Given the description of an element on the screen output the (x, y) to click on. 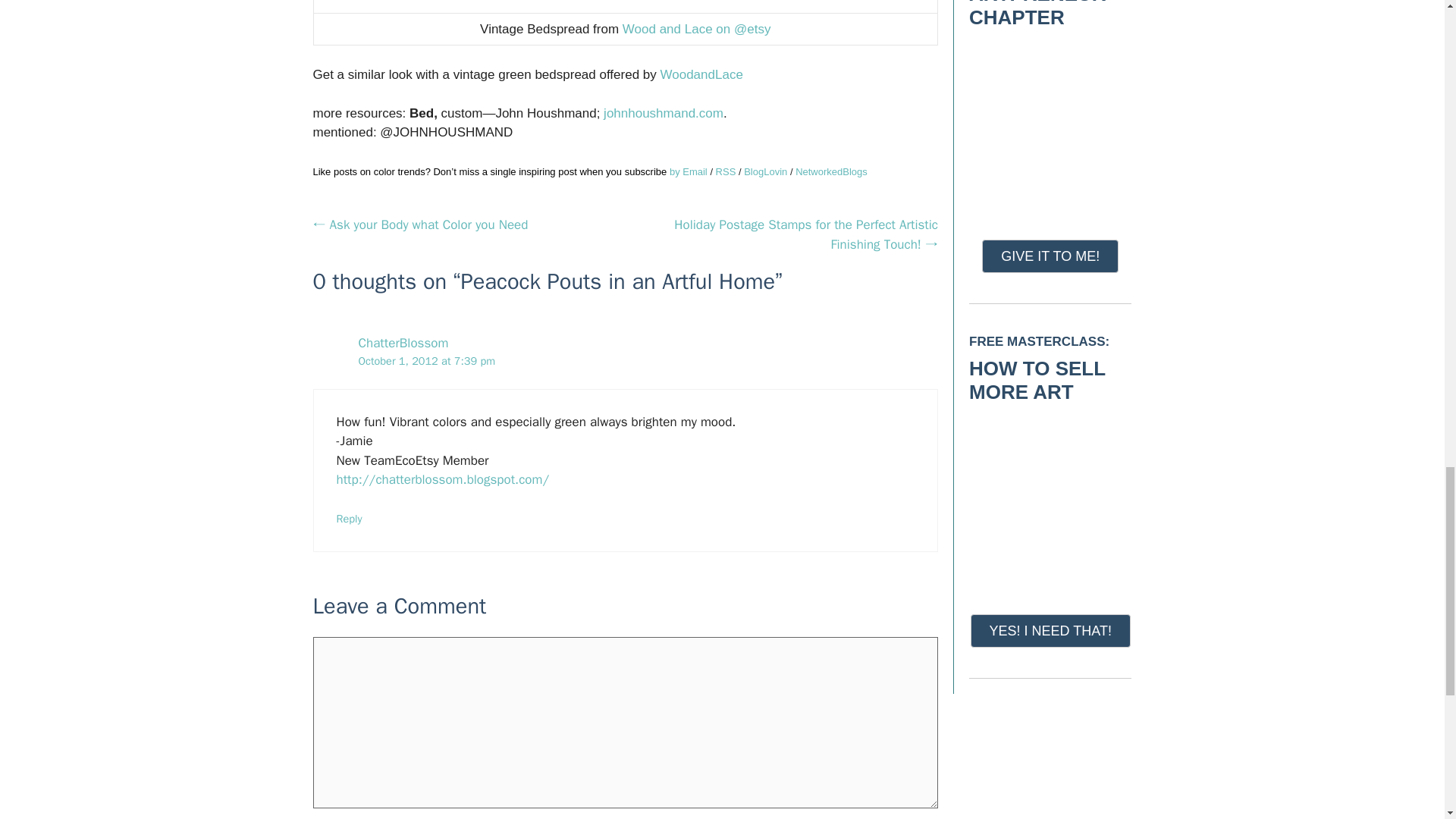
johnhoushmand.com (663, 113)
free artpreneur chapter - for website sidebar (1050, 127)
NetworkedBlogs (830, 171)
RSS (727, 171)
WoodandLace  (703, 74)
by Email (688, 171)
free how to sell more art masterclass - for website homepage (1050, 502)
BlogLovin (765, 171)
